Given the description of an element on the screen output the (x, y) to click on. 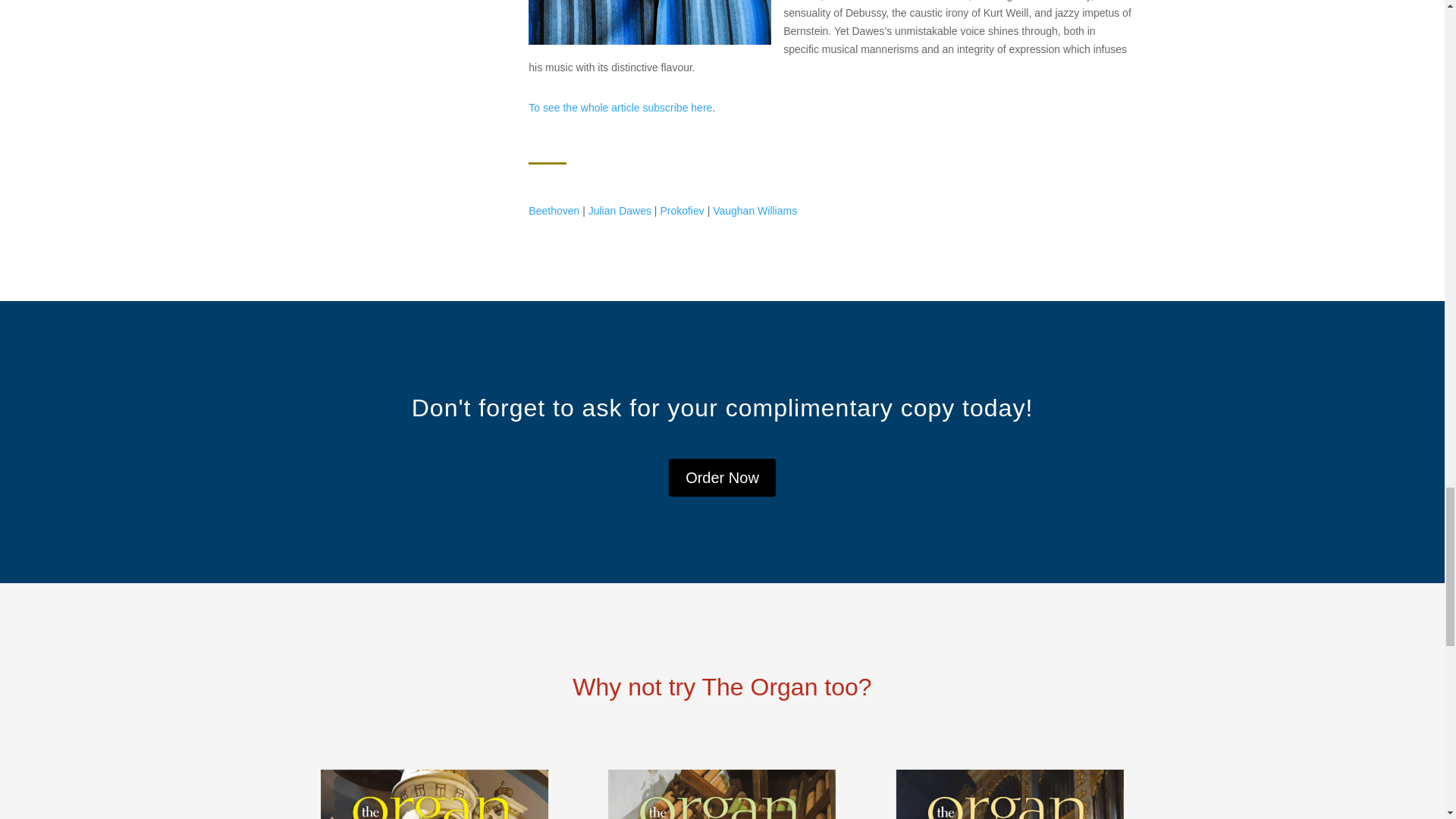
The Organ magazine Autumn 2022 (434, 794)
The Organ magazine Spring 2023 (721, 794)
The Organ magazine Winter 2023 (1010, 794)
